Given the description of an element on the screen output the (x, y) to click on. 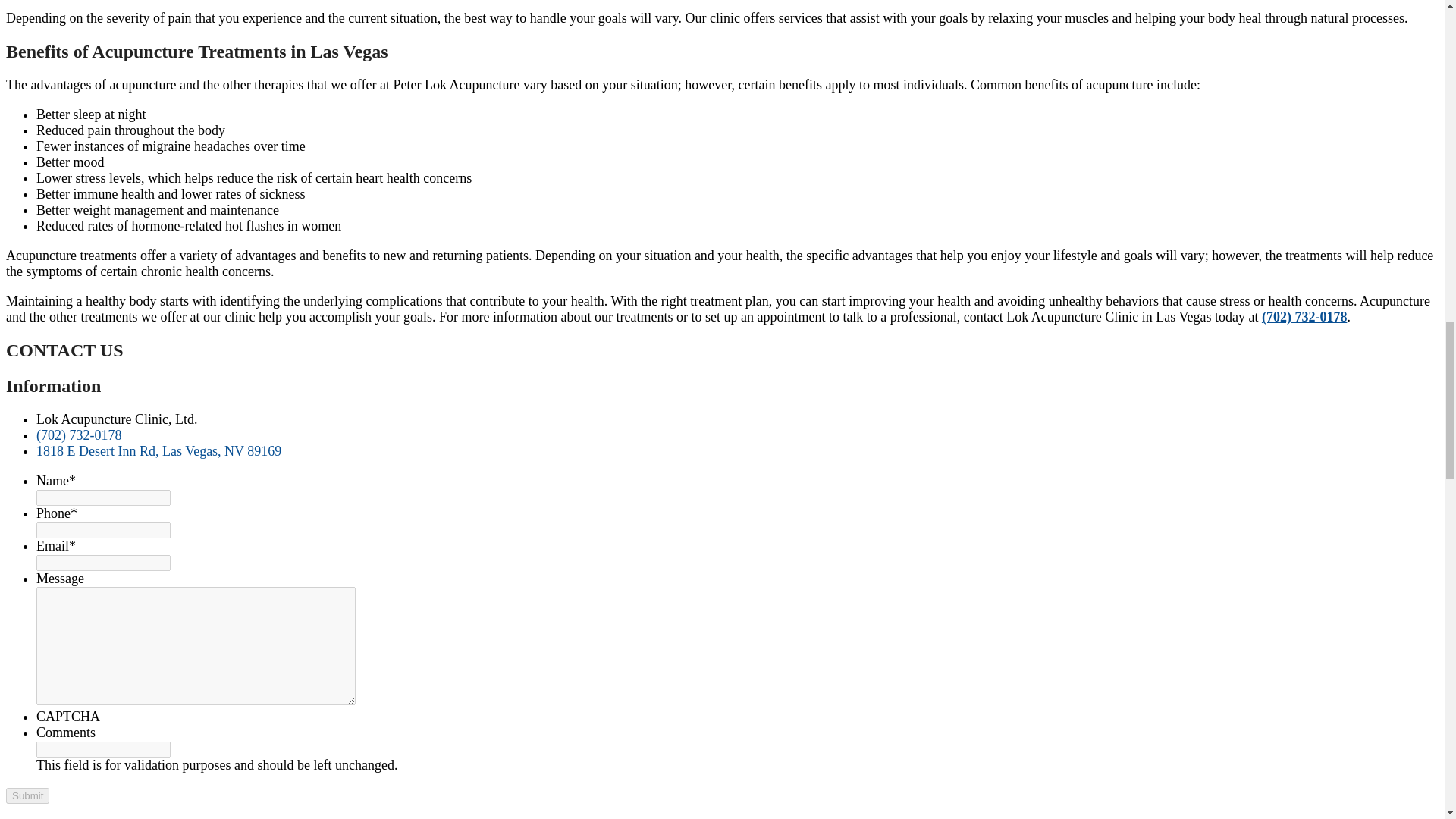
Submit (27, 795)
